Given the description of an element on the screen output the (x, y) to click on. 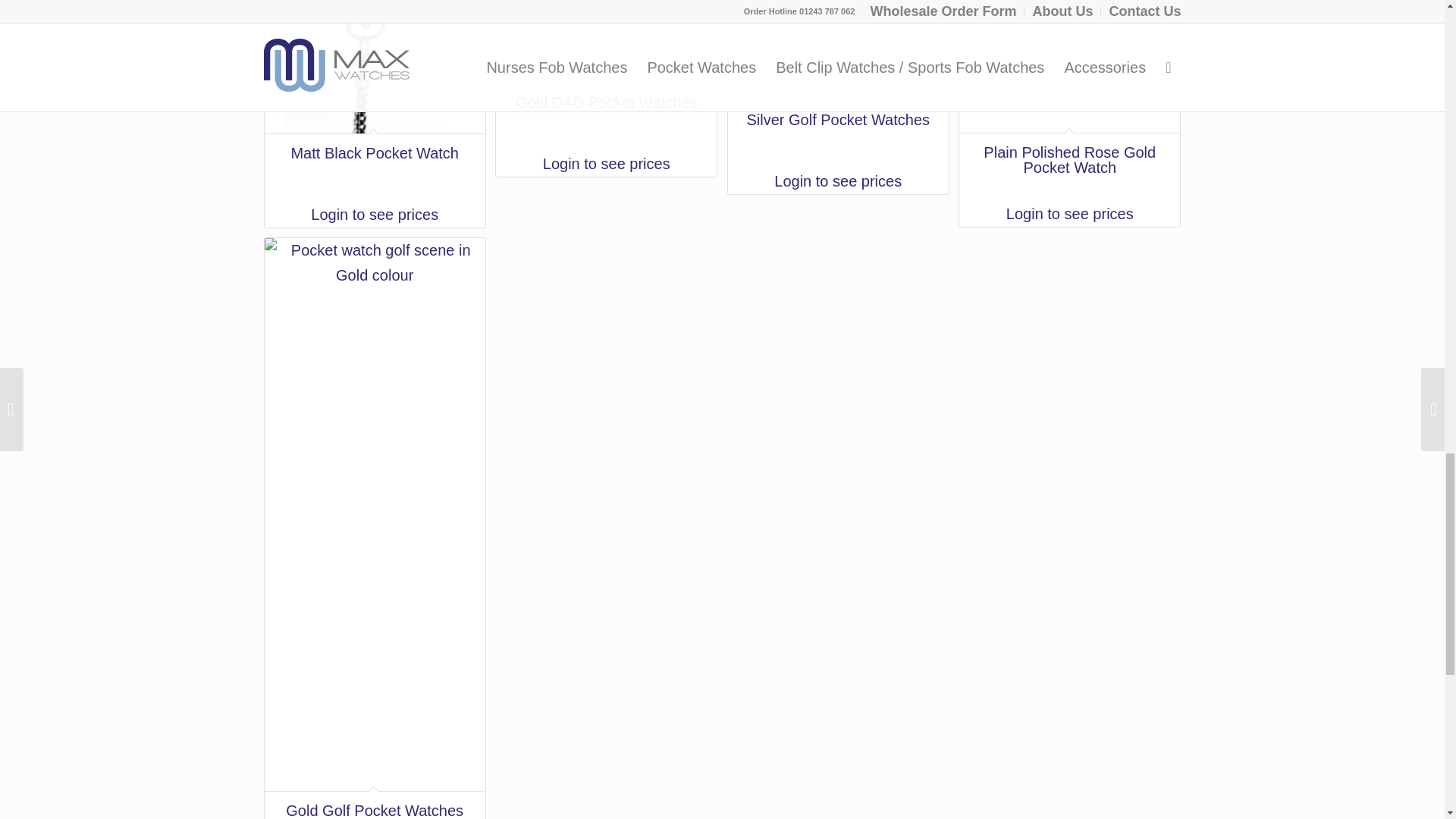
Login to see prices (373, 214)
Plain Polished Rose Gold Pocket Watch (1069, 100)
Login to see prices (838, 181)
Login to see prices (1069, 213)
Gold DAD Pocket Watches (606, 75)
Silver Golf Pocket Watches (838, 84)
Matt Black Pocket Watch (373, 101)
Login to see prices (606, 163)
